Given the description of an element on the screen output the (x, y) to click on. 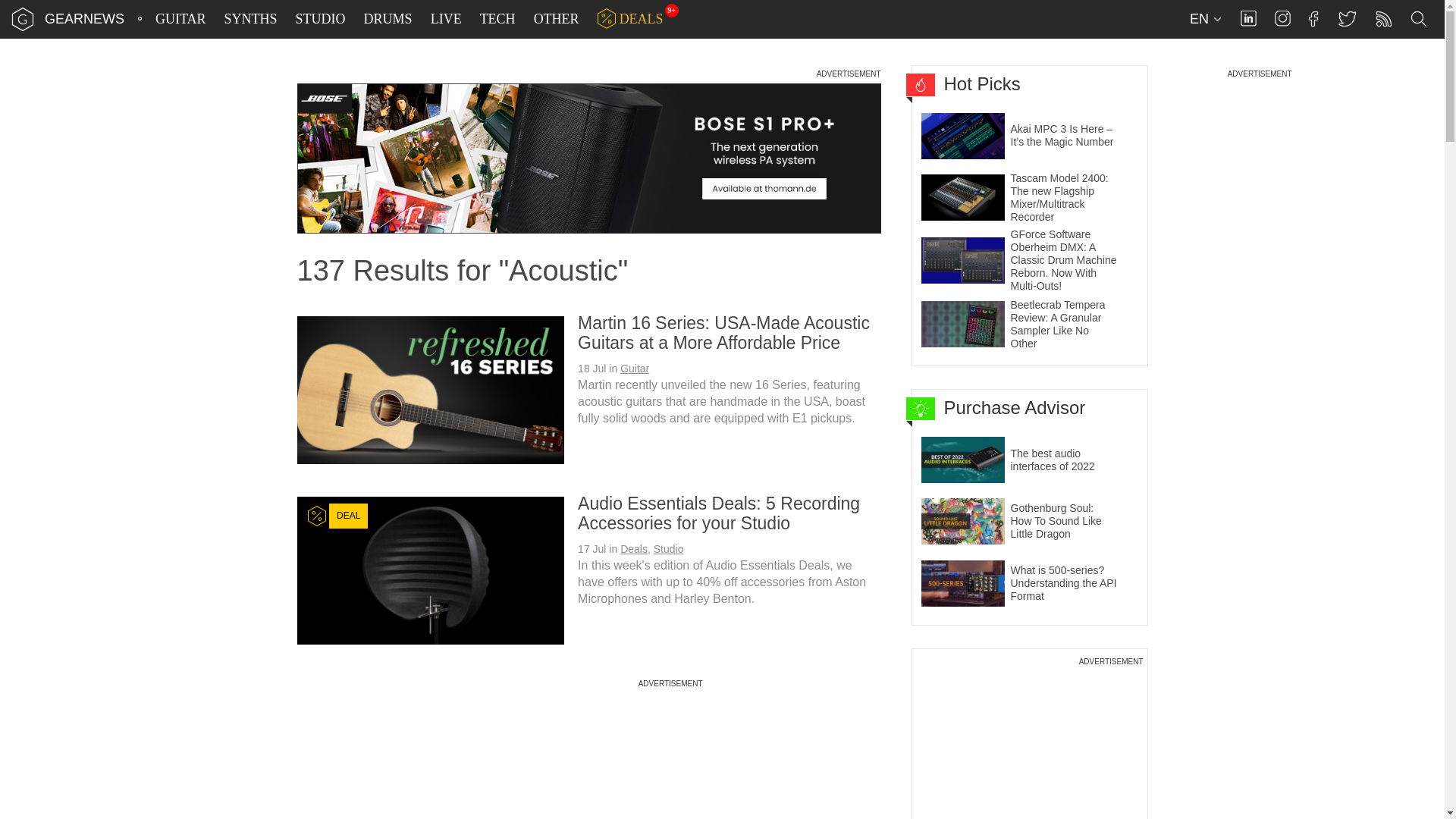
SYNTHS (250, 19)
DEALS (630, 19)
TECH (497, 19)
OTHER (556, 19)
DRUMS (387, 19)
Instagram (1282, 18)
LinkedIn (1248, 18)
STUDIO (320, 19)
LIVE (445, 19)
GEARNEWS (84, 18)
GUITAR (181, 19)
